Given the description of an element on the screen output the (x, y) to click on. 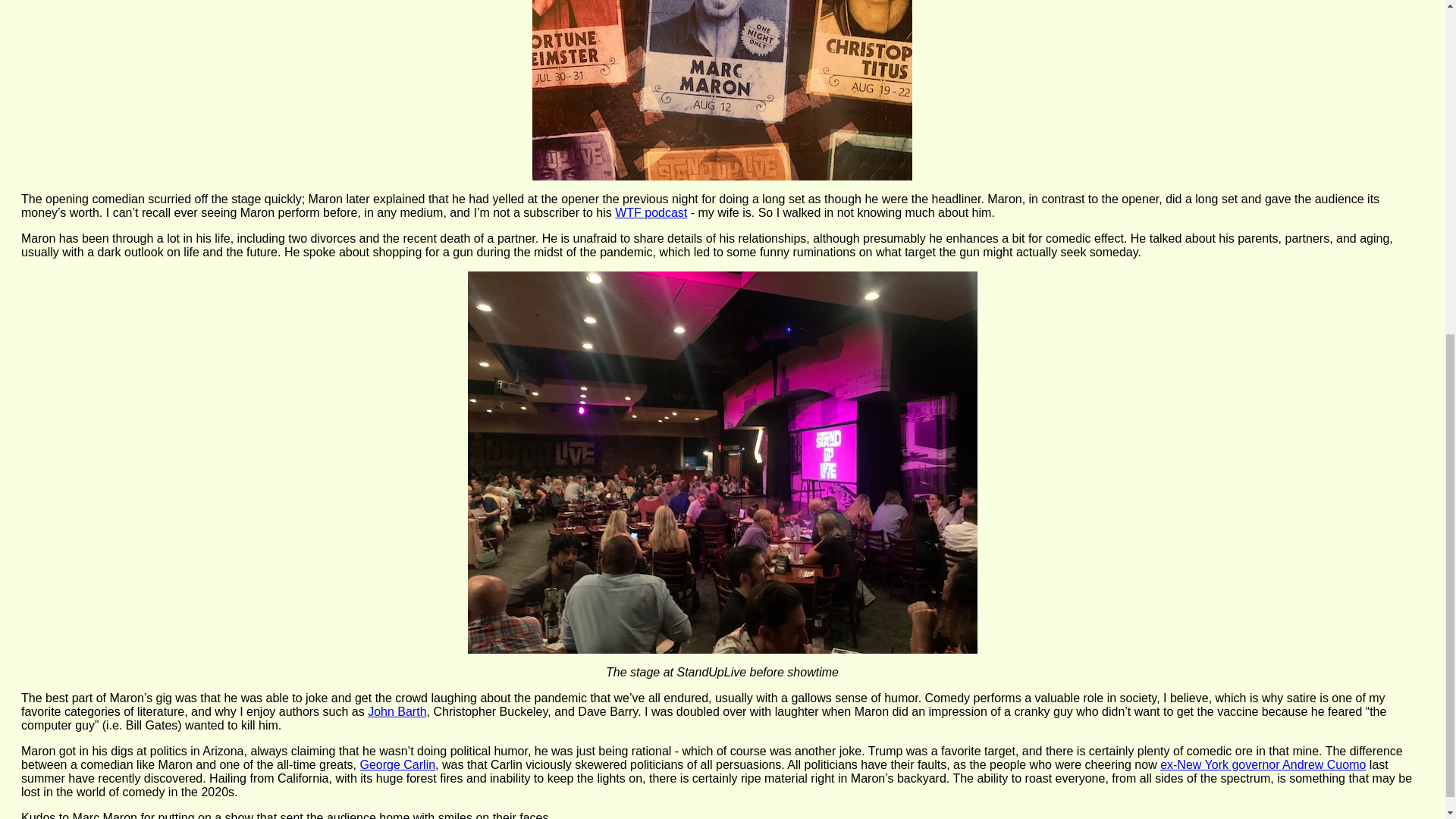
ex-New York governor Andrew Cuomo (1262, 764)
George Carlin (397, 764)
WTF podcast (650, 212)
John Barth (397, 711)
